Given the description of an element on the screen output the (x, y) to click on. 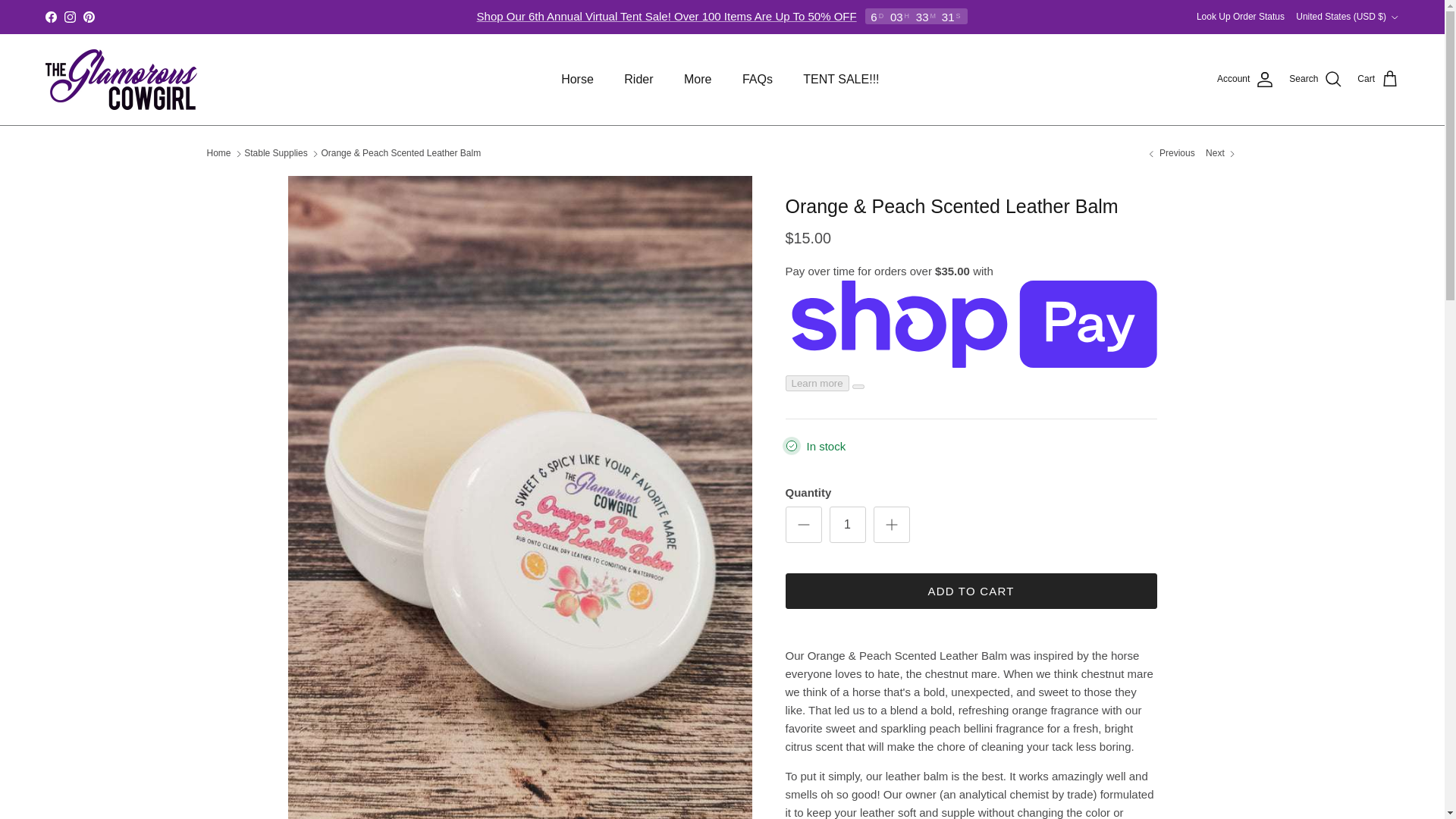
TGC Brands on Pinterest (88, 16)
Horse (577, 79)
1 (847, 524)
Safe-T Flare (1221, 153)
TENT SALE!!! (840, 79)
Look Up Order Status (1240, 16)
More (697, 79)
Pinterest (88, 16)
Facebook (50, 16)
Instagram (69, 16)
